Given the description of an element on the screen output the (x, y) to click on. 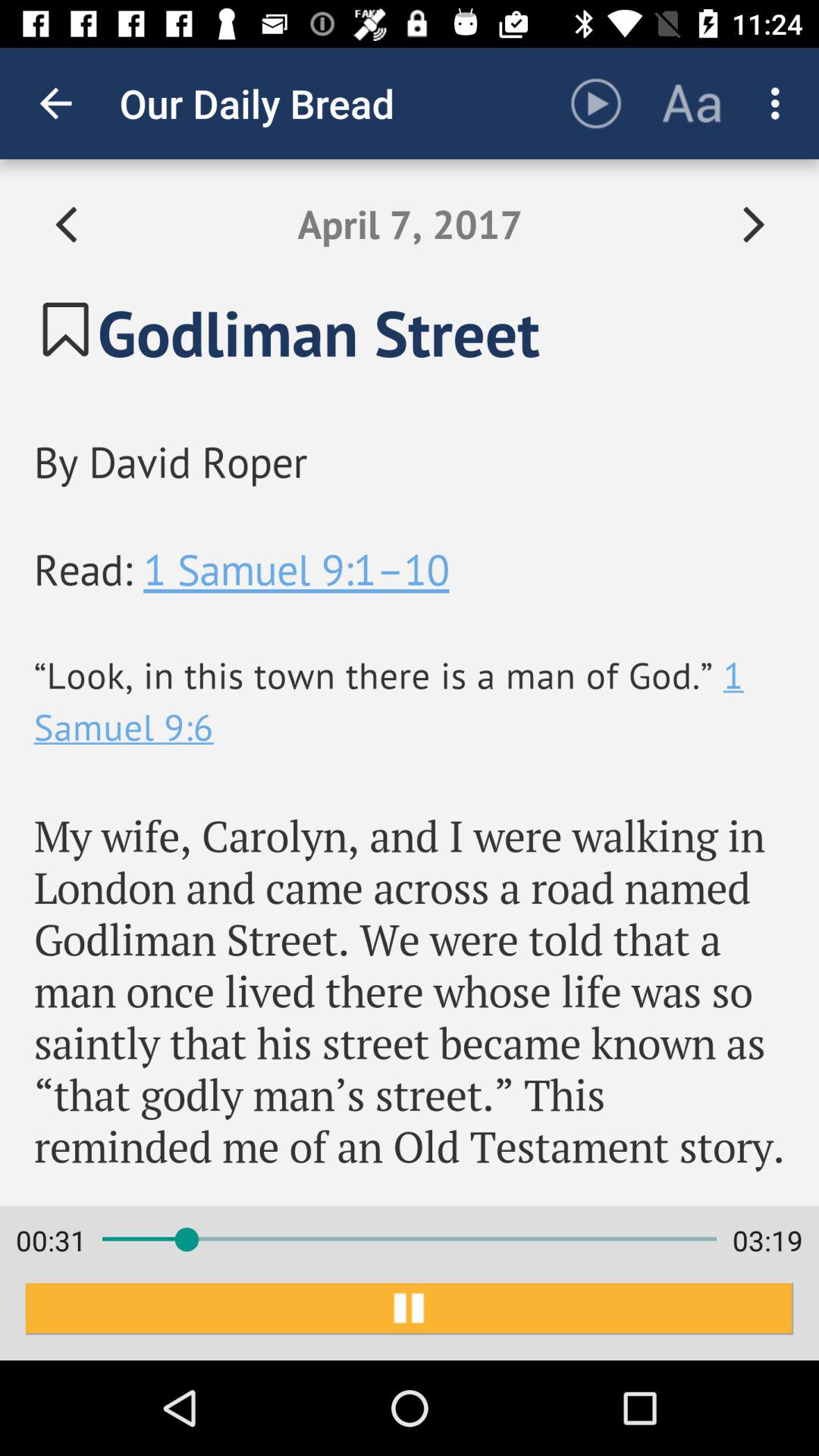
launch item below 00:32 item (409, 1308)
